Given the description of an element on the screen output the (x, y) to click on. 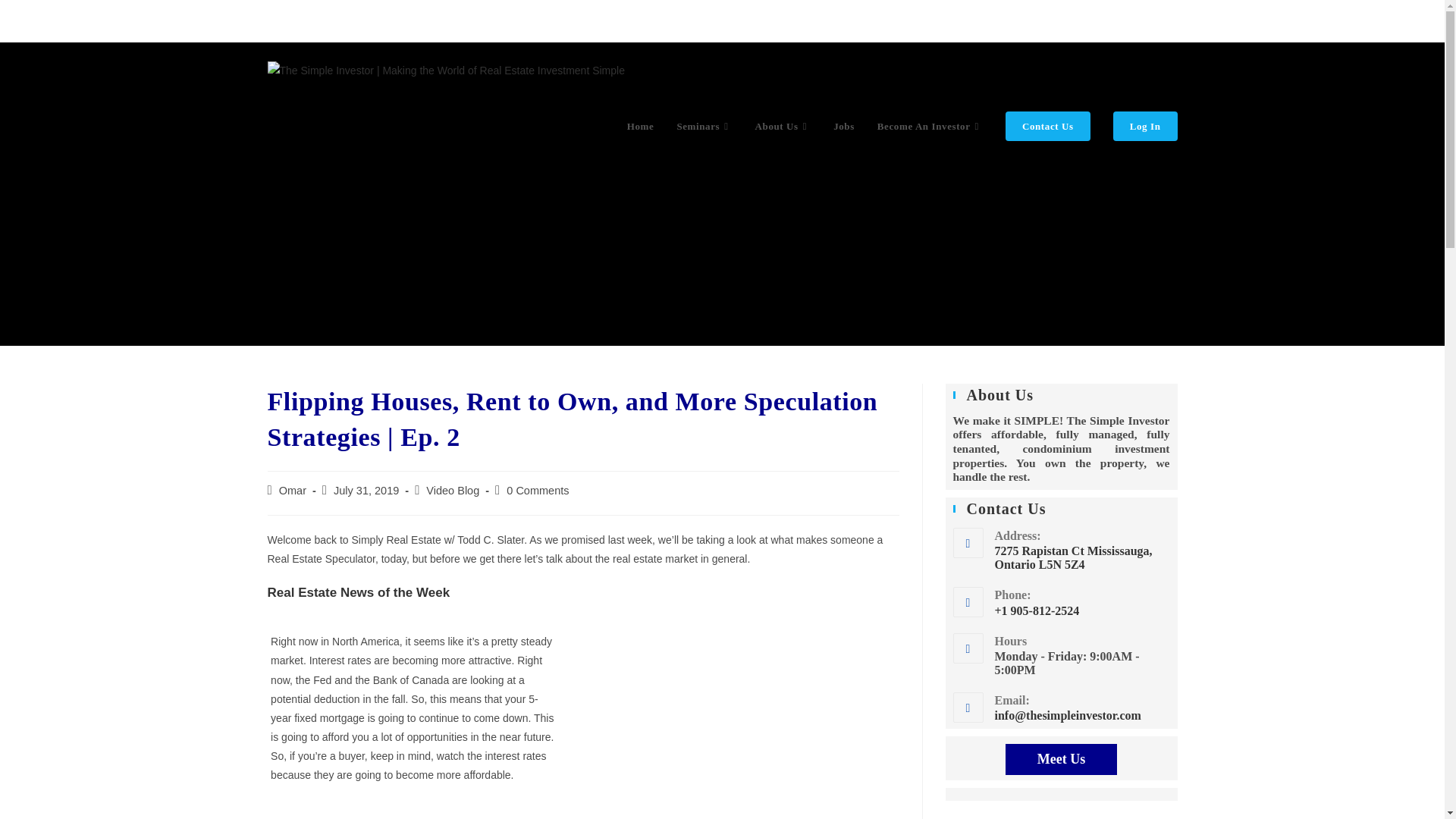
Omar (292, 490)
Posts by Omar (292, 490)
Seminars (703, 126)
0 Comments (537, 490)
7275 Rapistan Ct Mississauga, Ontario L5N 5Z4 (1082, 557)
Video Blog (452, 490)
About Us (783, 126)
Contact Us (1048, 126)
Home (640, 126)
Log In (1145, 126)
